Given the description of an element on the screen output the (x, y) to click on. 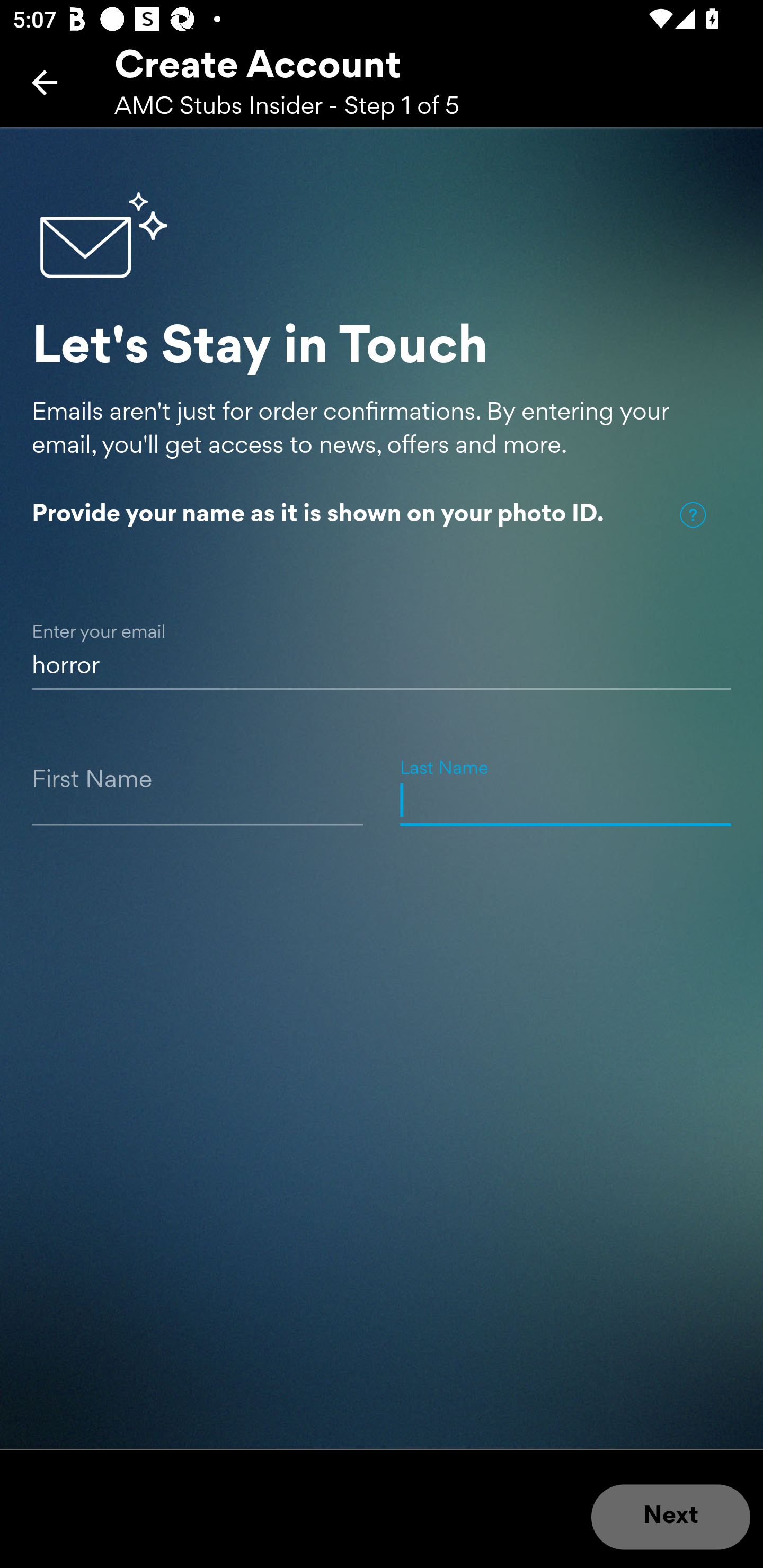
Back (44, 82)
Help (692, 514)
horror (381, 644)
